Given the description of an element on the screen output the (x, y) to click on. 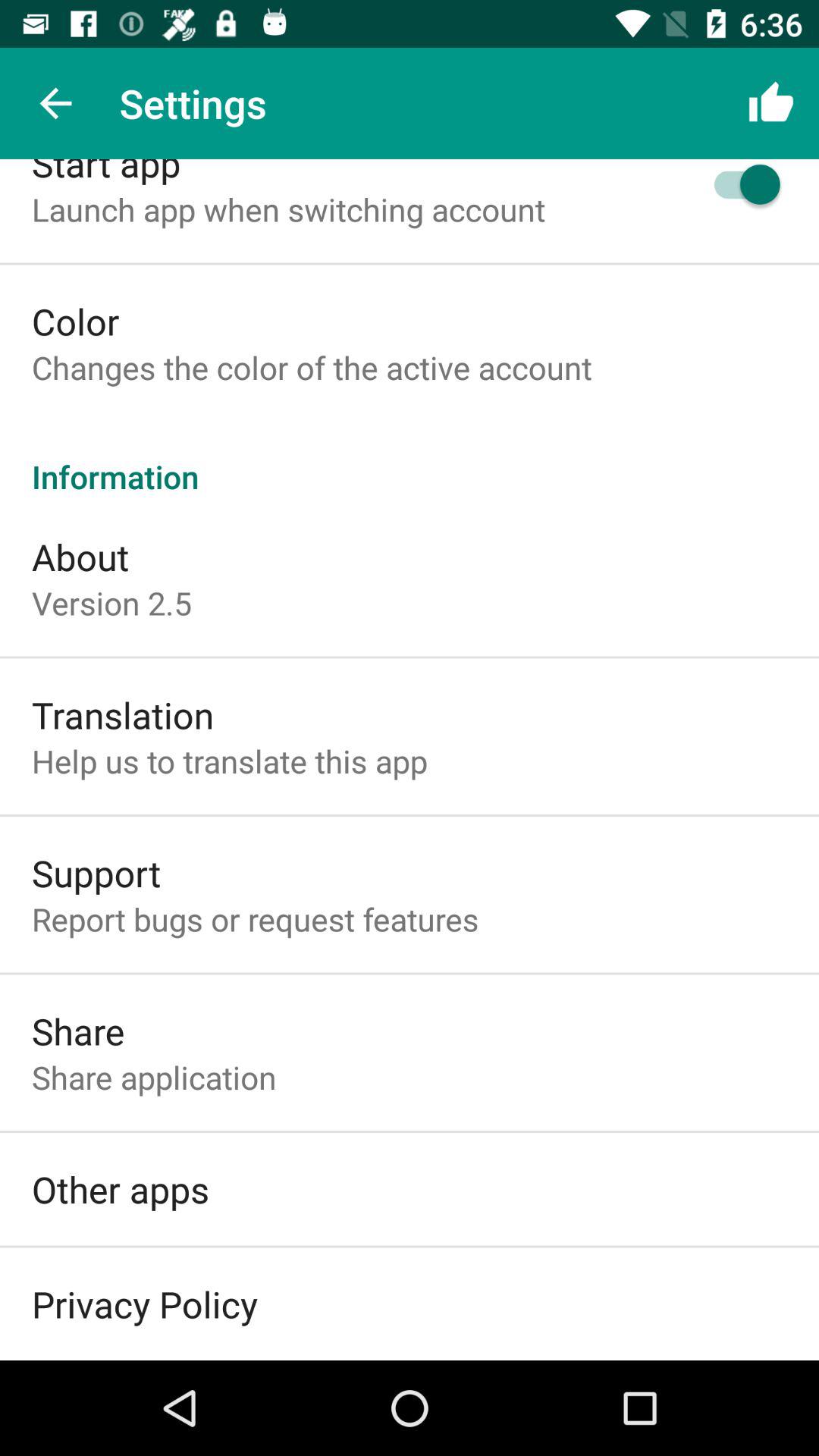
press icon below the about icon (111, 602)
